Given the description of an element on the screen output the (x, y) to click on. 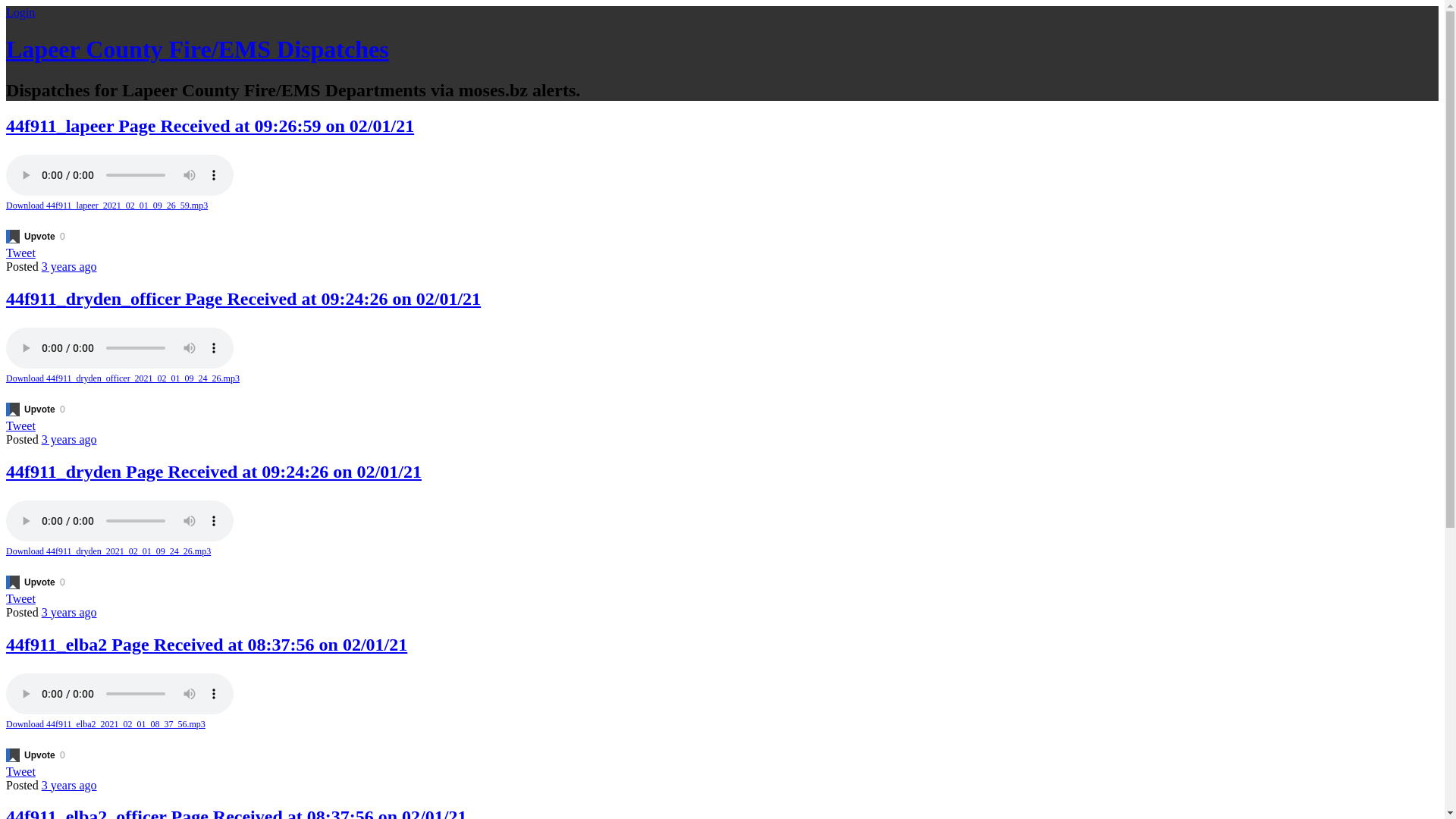
44f911_elba2 Page Received at 08:37:56 on 02/01/21 Element type: text (206, 643)
3 years ago Element type: text (69, 784)
Download 44f911_lapeer_2021_02_01_09_26_59.mp3 Element type: text (722, 205)
3 years ago Element type: text (69, 266)
Tweet Element type: text (20, 252)
Download 44f911_dryden_officer_2021_02_01_09_24_26.mp3 Element type: text (722, 378)
Tweet Element type: text (20, 770)
UpVote 0 Element type: text (37, 754)
44f911_dryden Page Received at 09:24:26 on 02/01/21 Element type: text (213, 471)
Download 44f911_elba2_2021_02_01_08_37_56.mp3 Element type: text (722, 724)
UpVote 0 Element type: text (37, 582)
Tweet Element type: text (20, 425)
3 years ago Element type: text (69, 439)
Tweet Element type: text (20, 598)
Download 44f911_dryden_2021_02_01_09_24_26.mp3 Element type: text (722, 551)
Lapeer County Fire/EMS Dispatches Element type: text (197, 48)
44f911_lapeer Page Received at 09:26:59 on 02/01/21 Element type: text (210, 125)
UpVote 0 Element type: text (37, 409)
UpVote 0 Element type: text (37, 236)
Login Element type: text (20, 12)
44f911_dryden_officer Page Received at 09:24:26 on 02/01/21 Element type: text (243, 298)
3 years ago Element type: text (69, 611)
